Given the description of an element on the screen output the (x, y) to click on. 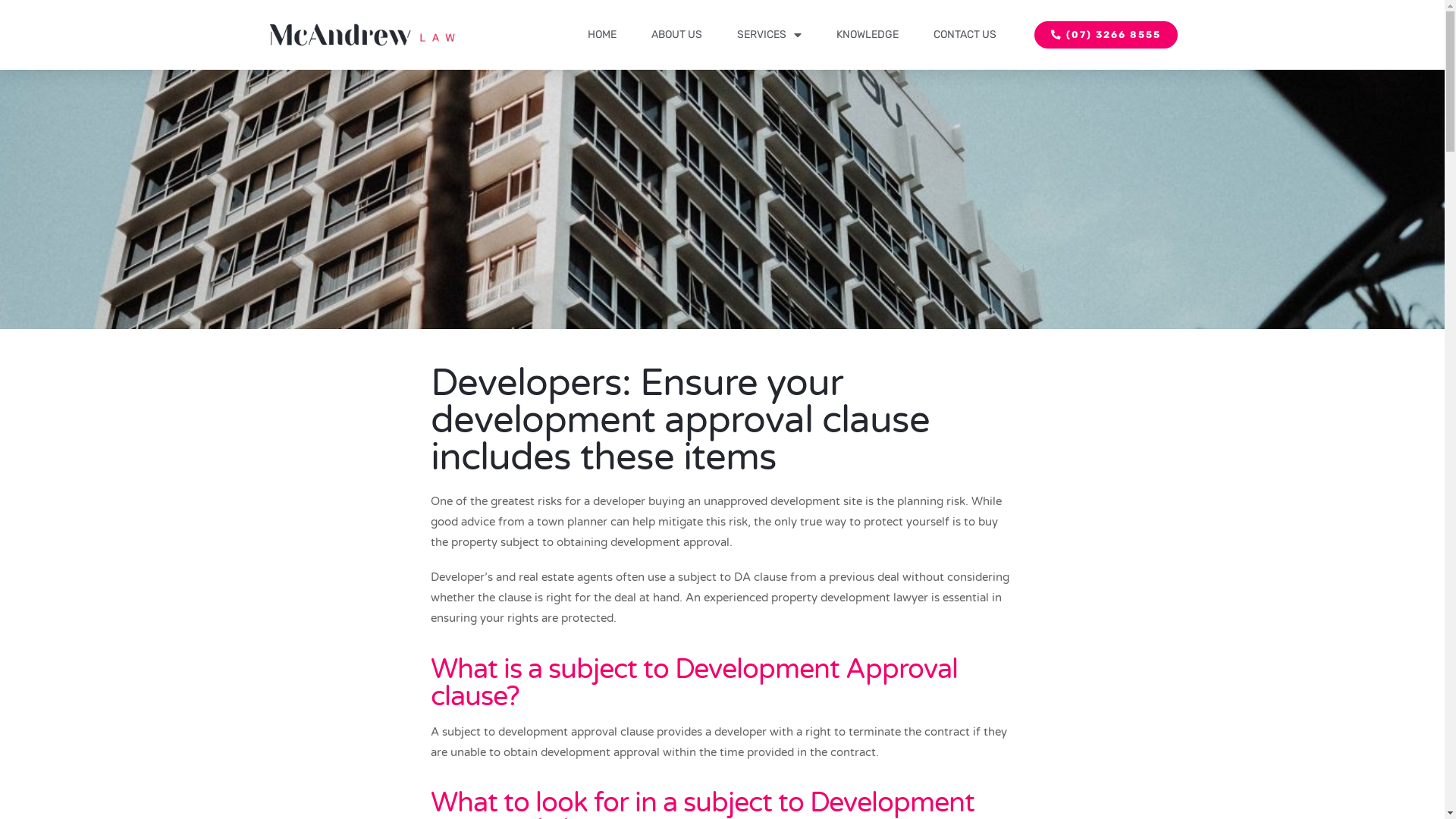
KNOWLEDGE Element type: text (866, 34)
HOME Element type: text (600, 34)
SERVICES Element type: text (768, 34)
(07) 3266 8555 Element type: text (1105, 35)
CONTACT US Element type: text (963, 34)
ABOUT US Element type: text (675, 34)
Subject to DA image Element type: hover (722, 199)
